Given the description of an element on the screen output the (x, y) to click on. 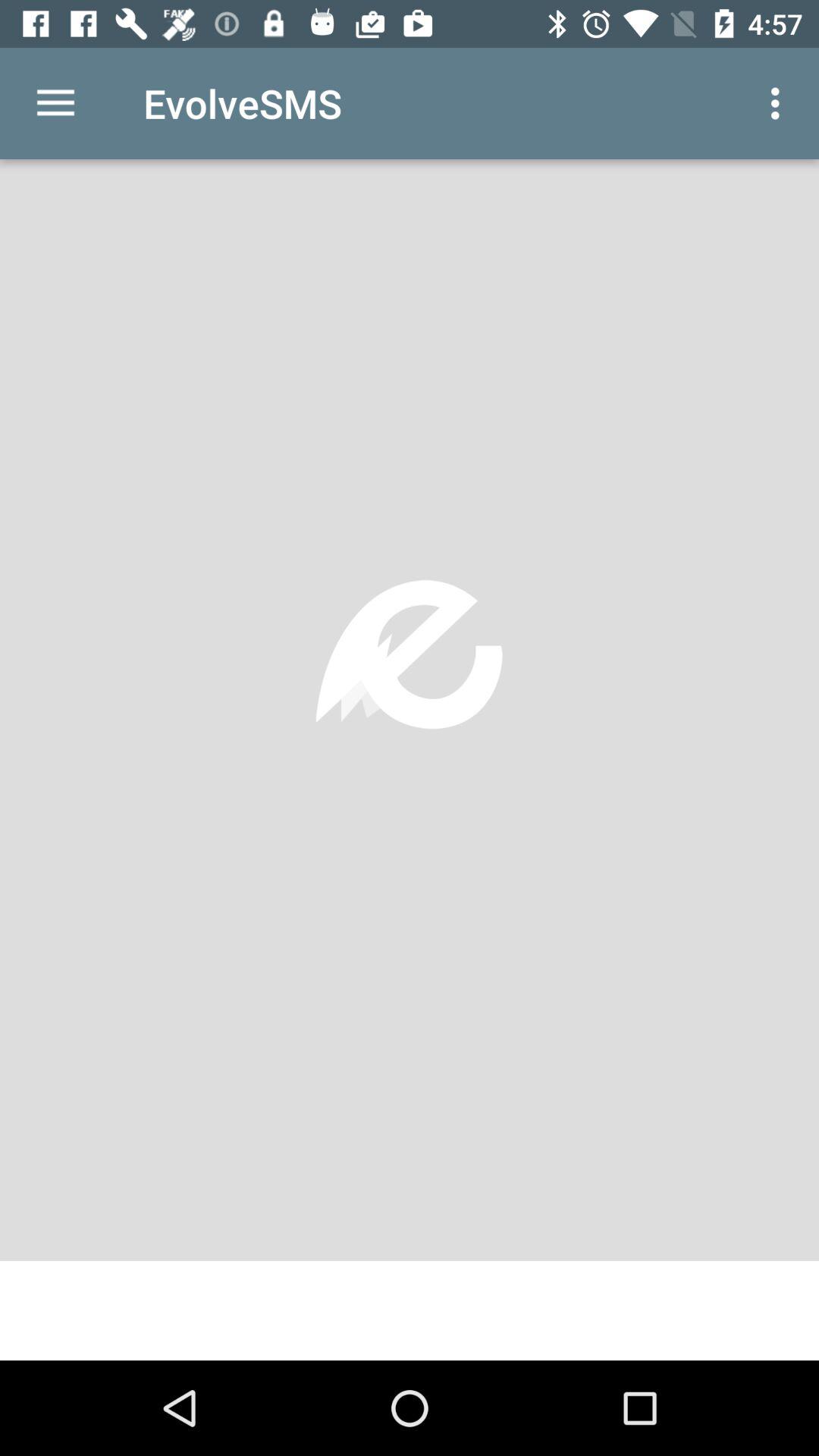
choose icon next to the evolvesms (779, 103)
